Given the description of an element on the screen output the (x, y) to click on. 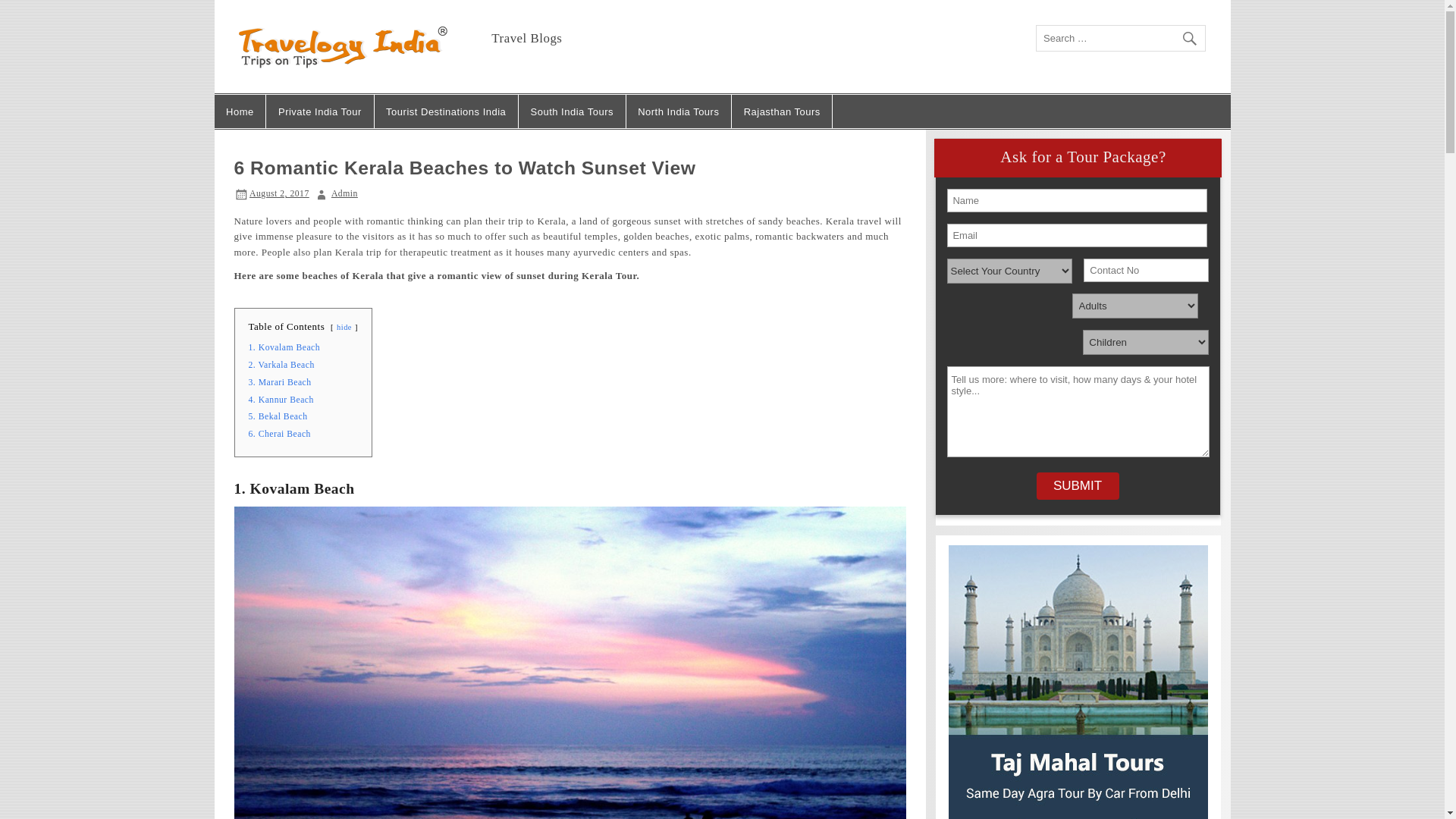
10:45 am (278, 194)
View all posts by Admin (344, 194)
Tourist Destinations India (446, 111)
5. Bekal Beach (277, 416)
hide (344, 326)
4. Kannur Beach (281, 399)
ayurvedic centers and spas. (632, 251)
6. Cherai Beach (279, 433)
plan Kerala trip (347, 251)
North India Tours (678, 111)
